Given the description of an element on the screen output the (x, y) to click on. 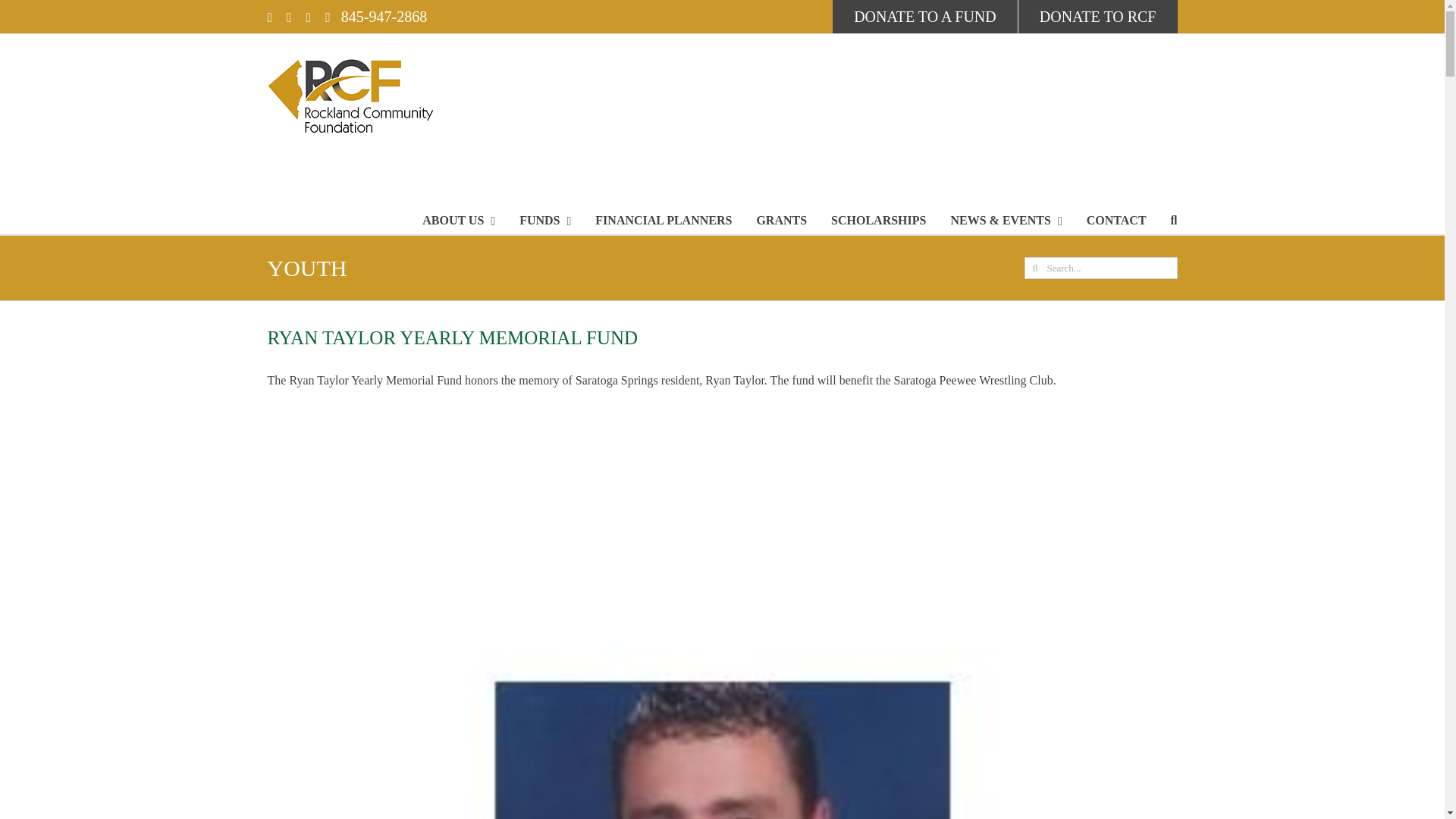
ABOUT US (458, 220)
DONATE TO RCF (1097, 16)
FINANCIAL PLANNERS (663, 220)
SCHOLARSHIPS (878, 220)
845-947-2868 (375, 16)
DONATE TO A FUND (925, 16)
FUNDS (544, 220)
GRANTS (780, 220)
